Given the description of an element on the screen output the (x, y) to click on. 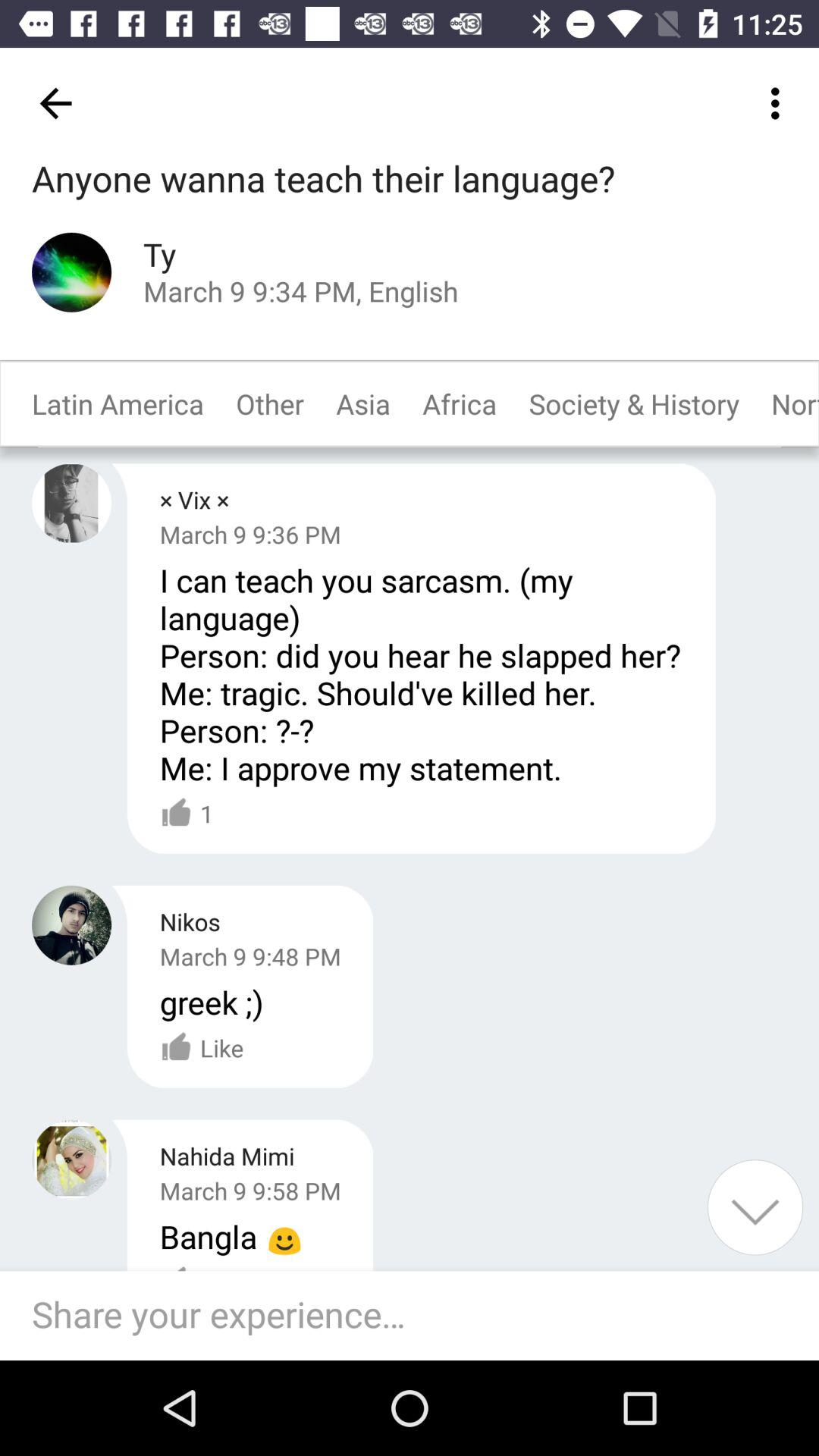
user picture comment (71, 503)
